Given the description of an element on the screen output the (x, y) to click on. 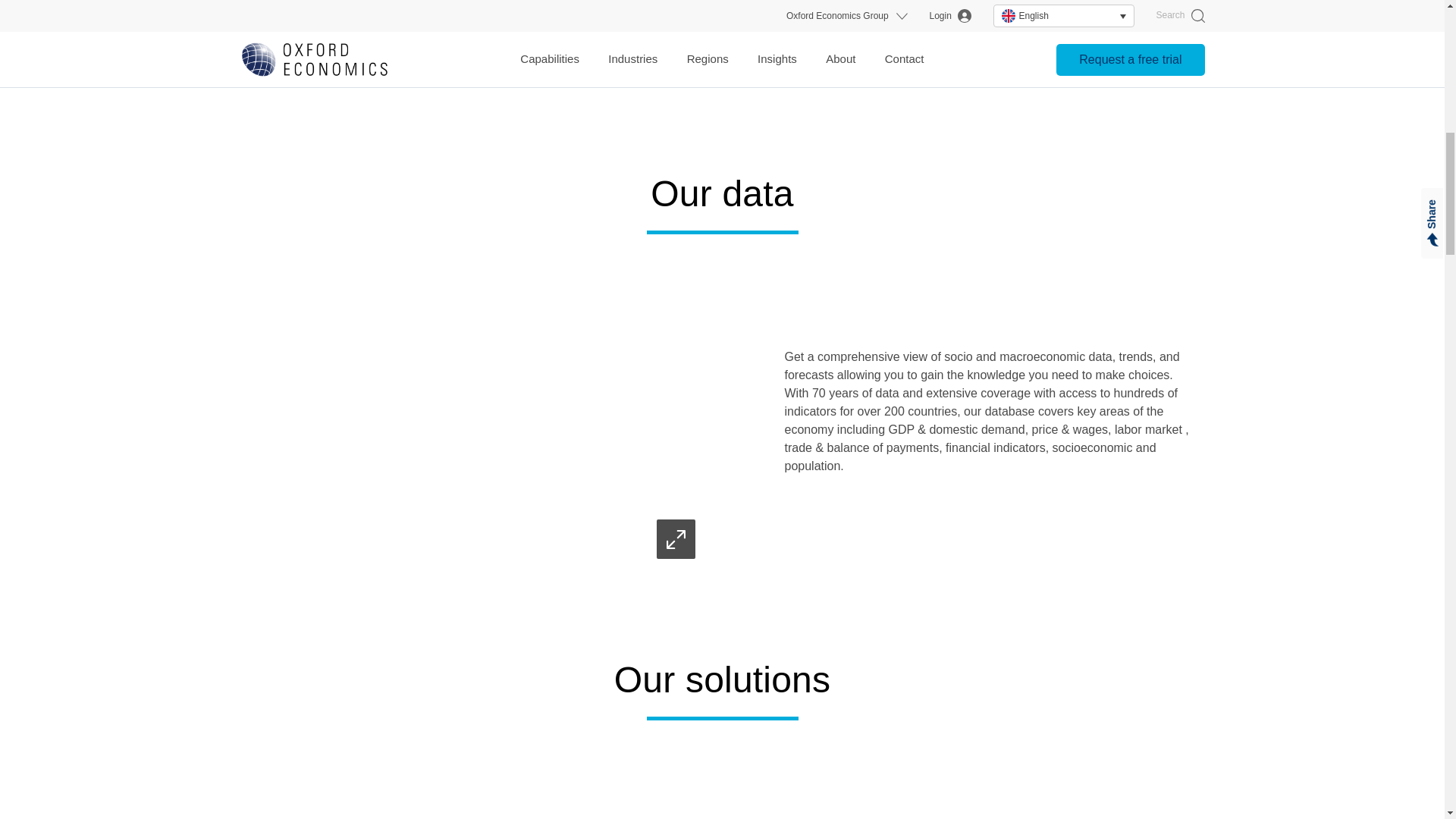
Scroll down for more (721, 48)
